Given the description of an element on the screen output the (x, y) to click on. 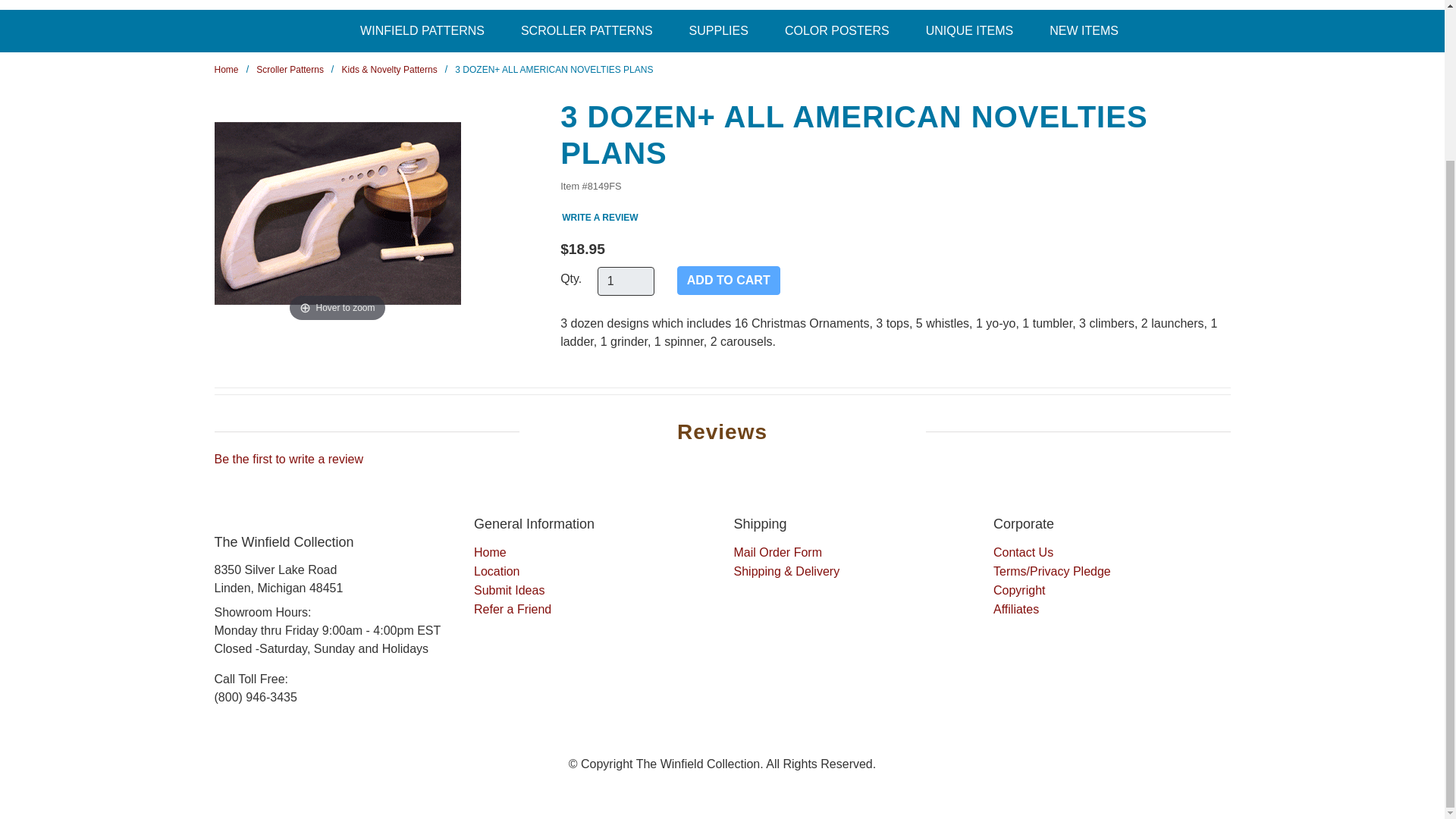
Add to Cart (728, 280)
1 (624, 280)
